Given the description of an element on the screen output the (x, y) to click on. 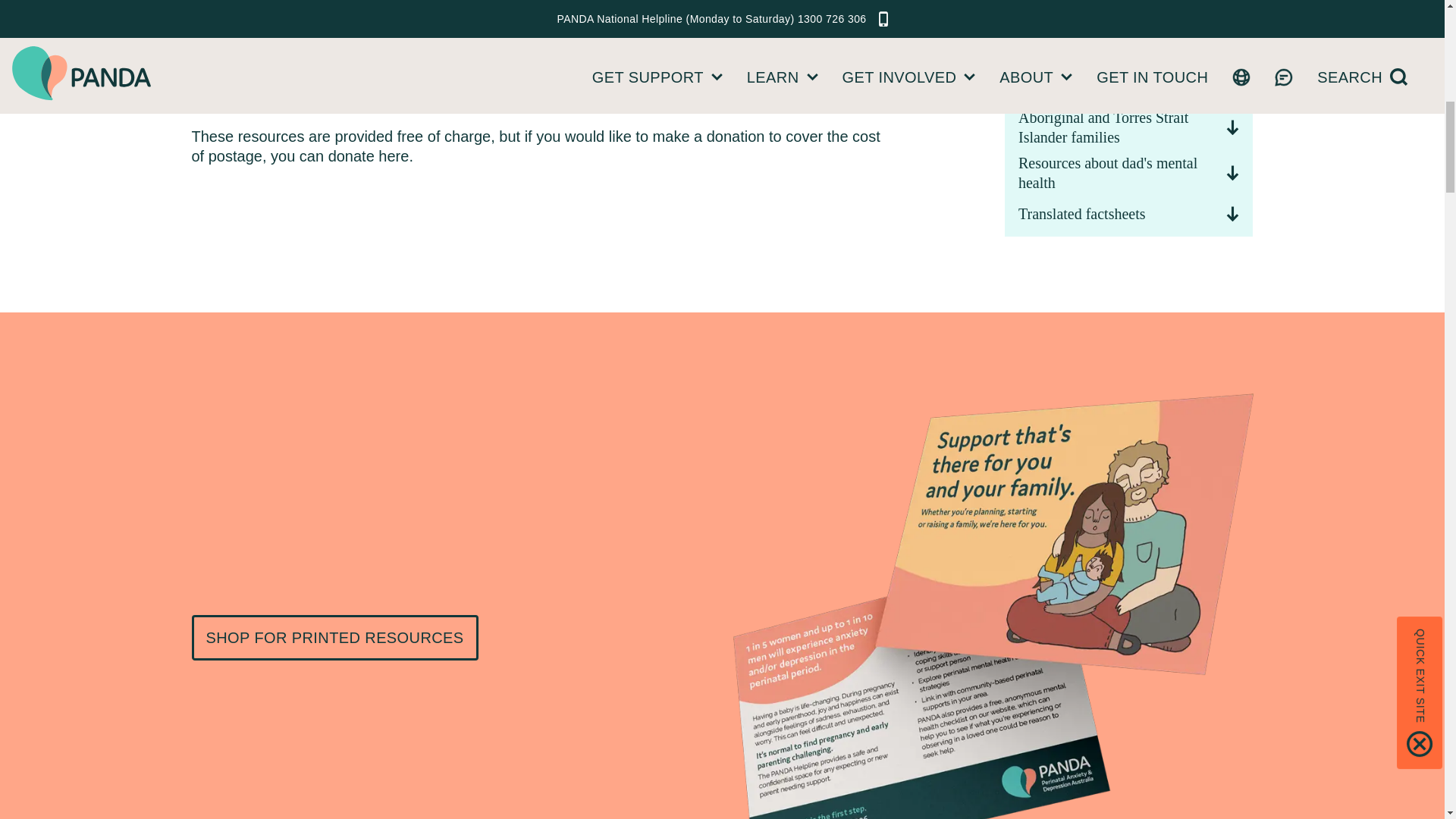
SHOP FOR PRINTED RESOURCES (333, 637)
Translated resources (1128, 76)
General factsheets (1128, 4)
Aboriginal and Torres Strait Islander families (1128, 122)
Translated factsheets (1128, 213)
Resources for Health Professionals (1128, 31)
Resources about dad's mental health (1128, 167)
here (393, 156)
